Given the description of an element on the screen output the (x, y) to click on. 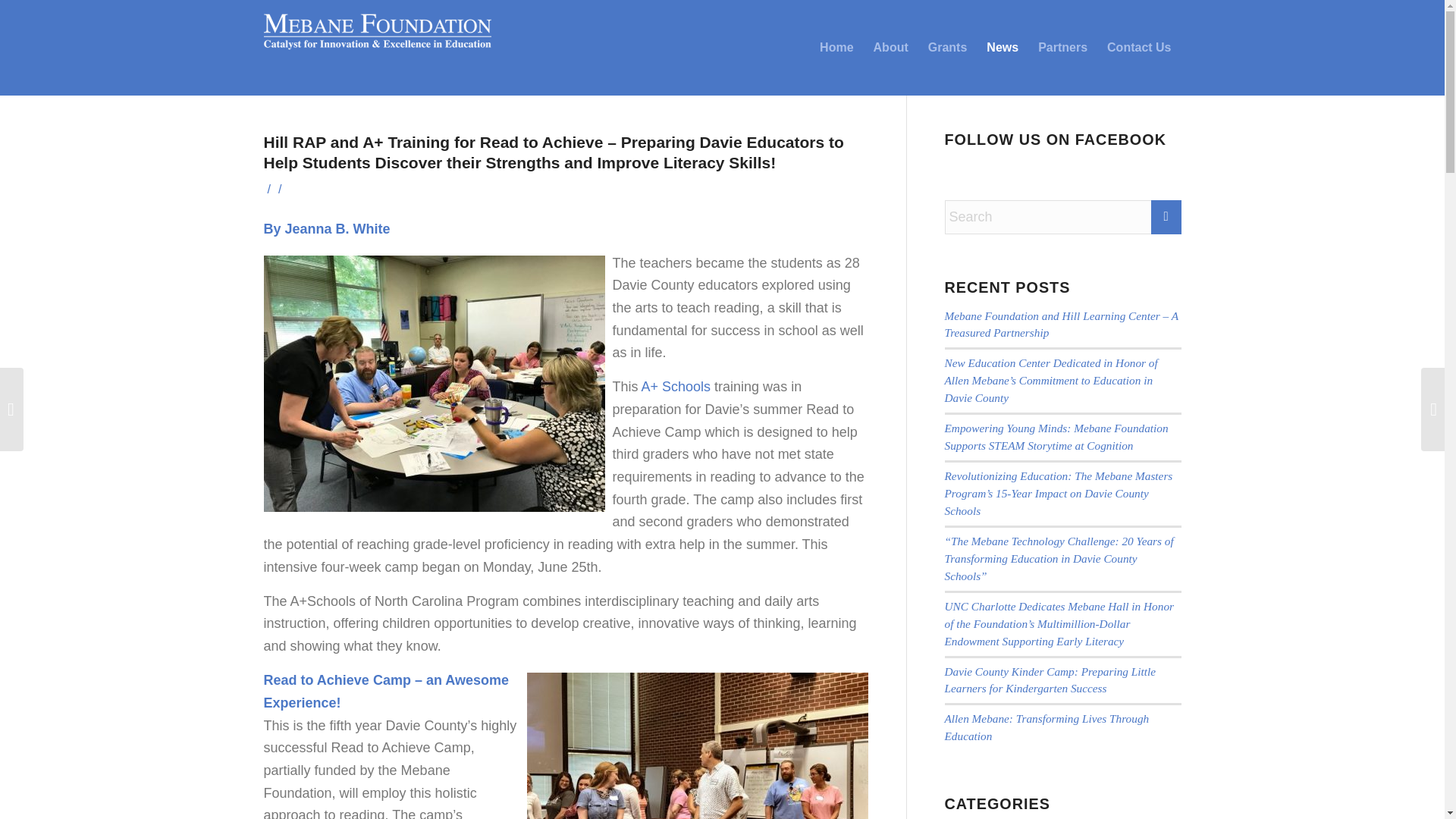
Contact Us (1138, 47)
About (890, 47)
Click to start search (1165, 216)
Allen Mebane: Transforming Lives Through Education (1047, 726)
Home (836, 47)
News (1001, 47)
Partners (1062, 47)
Grants (947, 47)
